Given the description of an element on the screen output the (x, y) to click on. 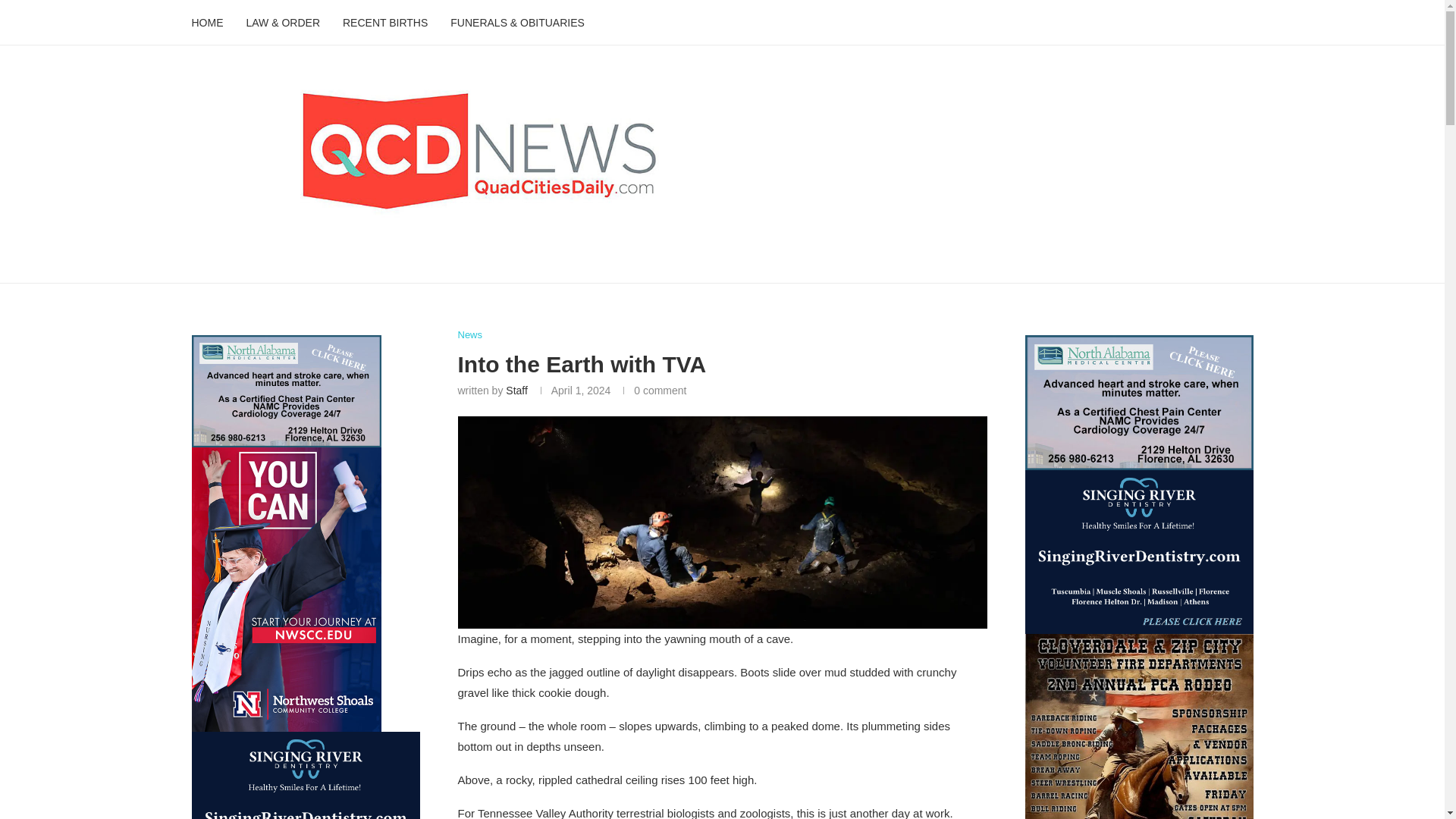
RECENT BIRTHS (385, 22)
News (470, 335)
tva-s-bat-survey-crew (722, 522)
Staff (516, 390)
